Given the description of an element on the screen output the (x, y) to click on. 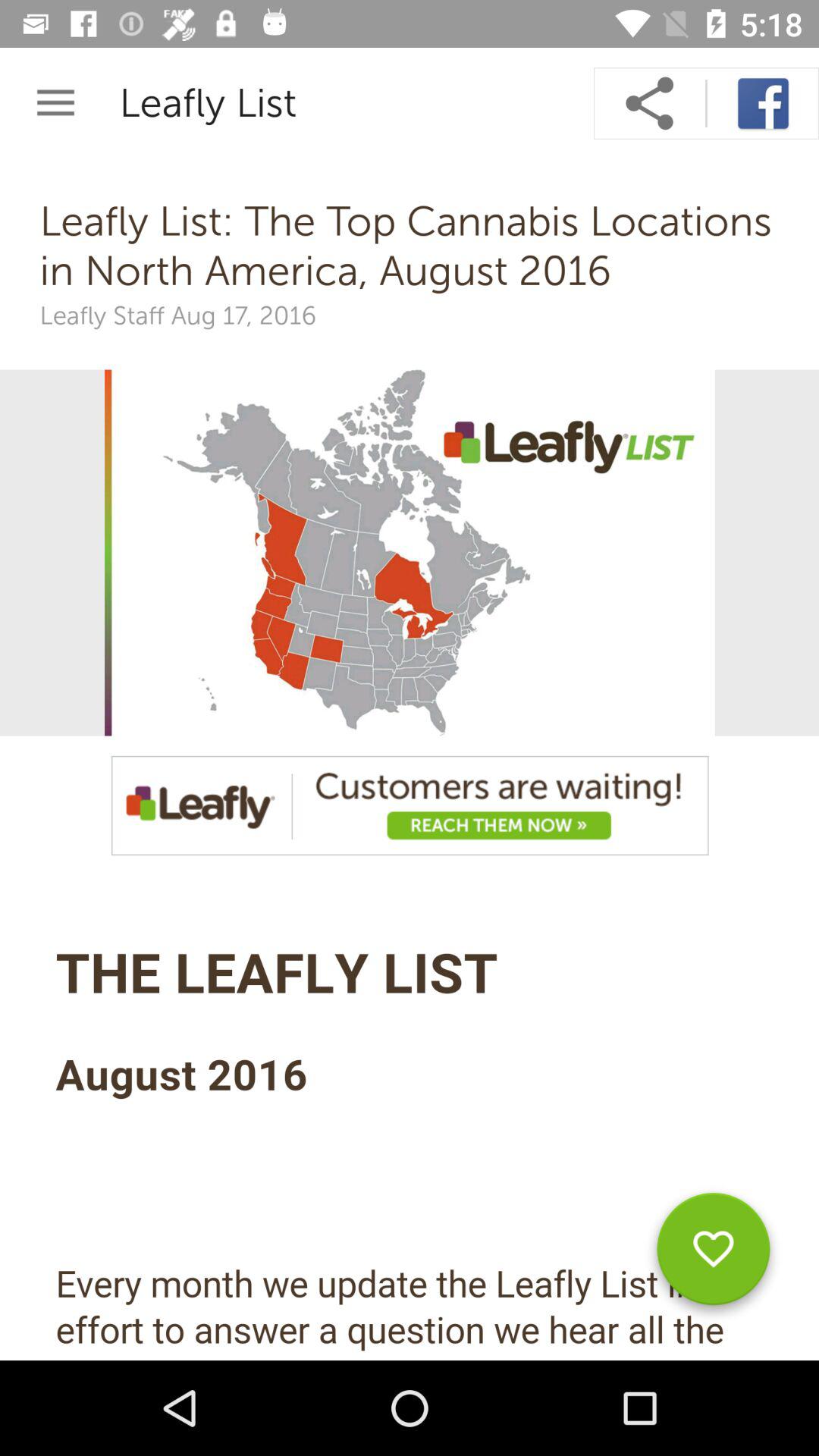
advertisement about leafly (409, 805)
